Given the description of an element on the screen output the (x, y) to click on. 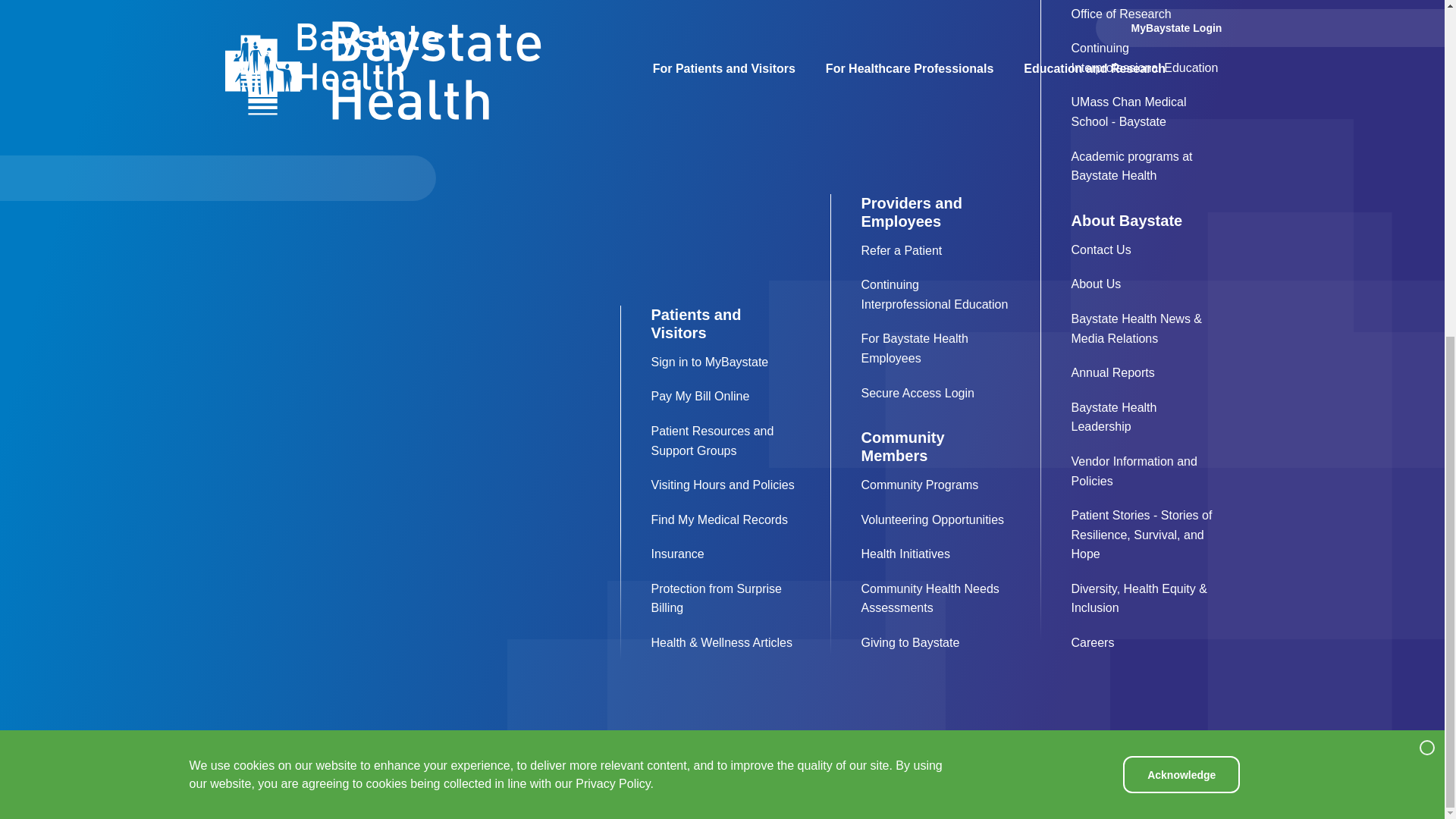
Acknowledge (1181, 208)
